Given the description of an element on the screen output the (x, y) to click on. 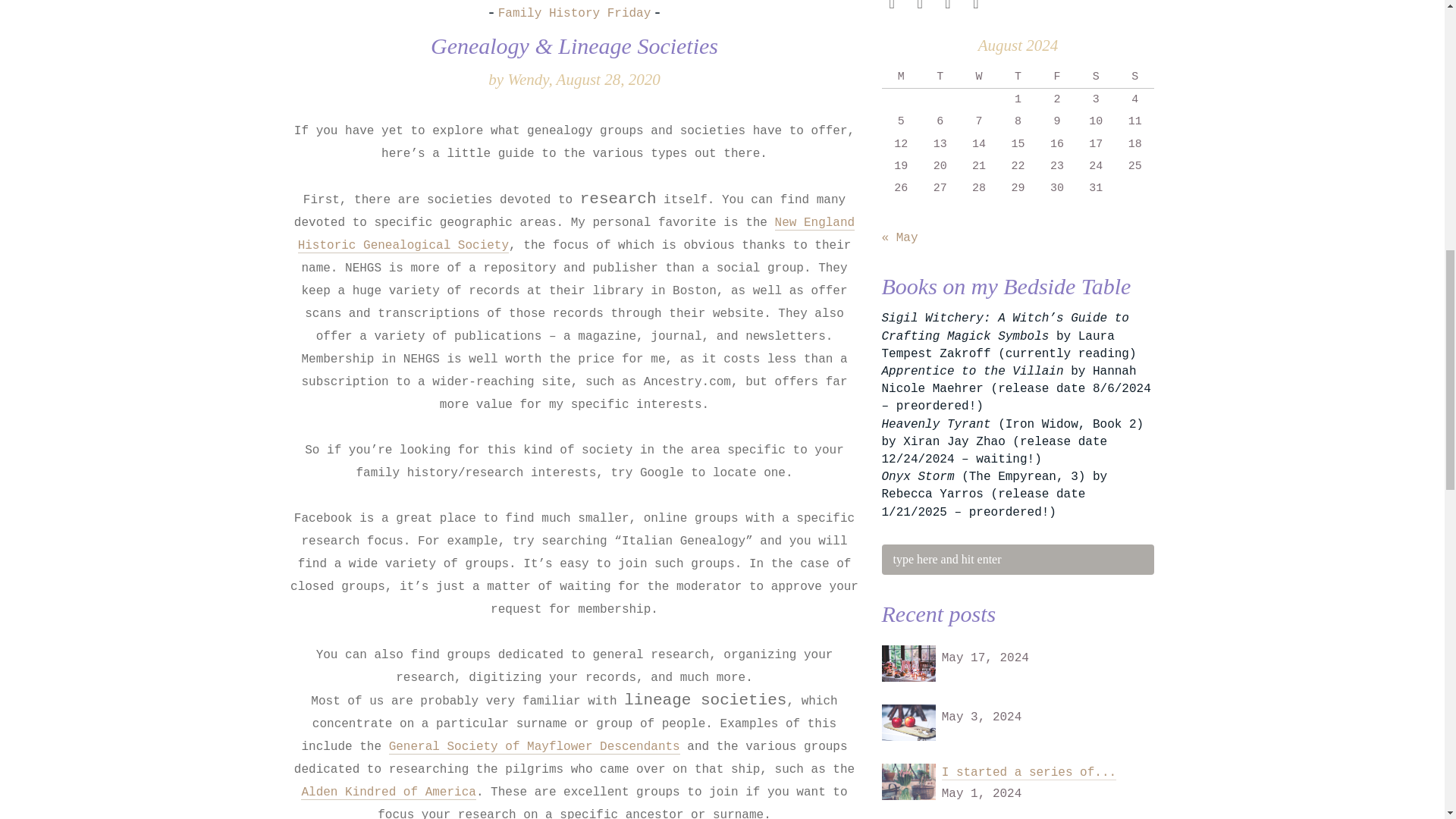
Family History Friday (573, 13)
Thursday (1017, 77)
Friday (1055, 77)
Sunday (1134, 77)
Monday (900, 77)
I started a series of... (1029, 772)
Alden Kindred of America (388, 792)
Tuesday (939, 77)
Wednesday (978, 77)
General Society of Mayflower Descendants (533, 747)
